Given the description of an element on the screen output the (x, y) to click on. 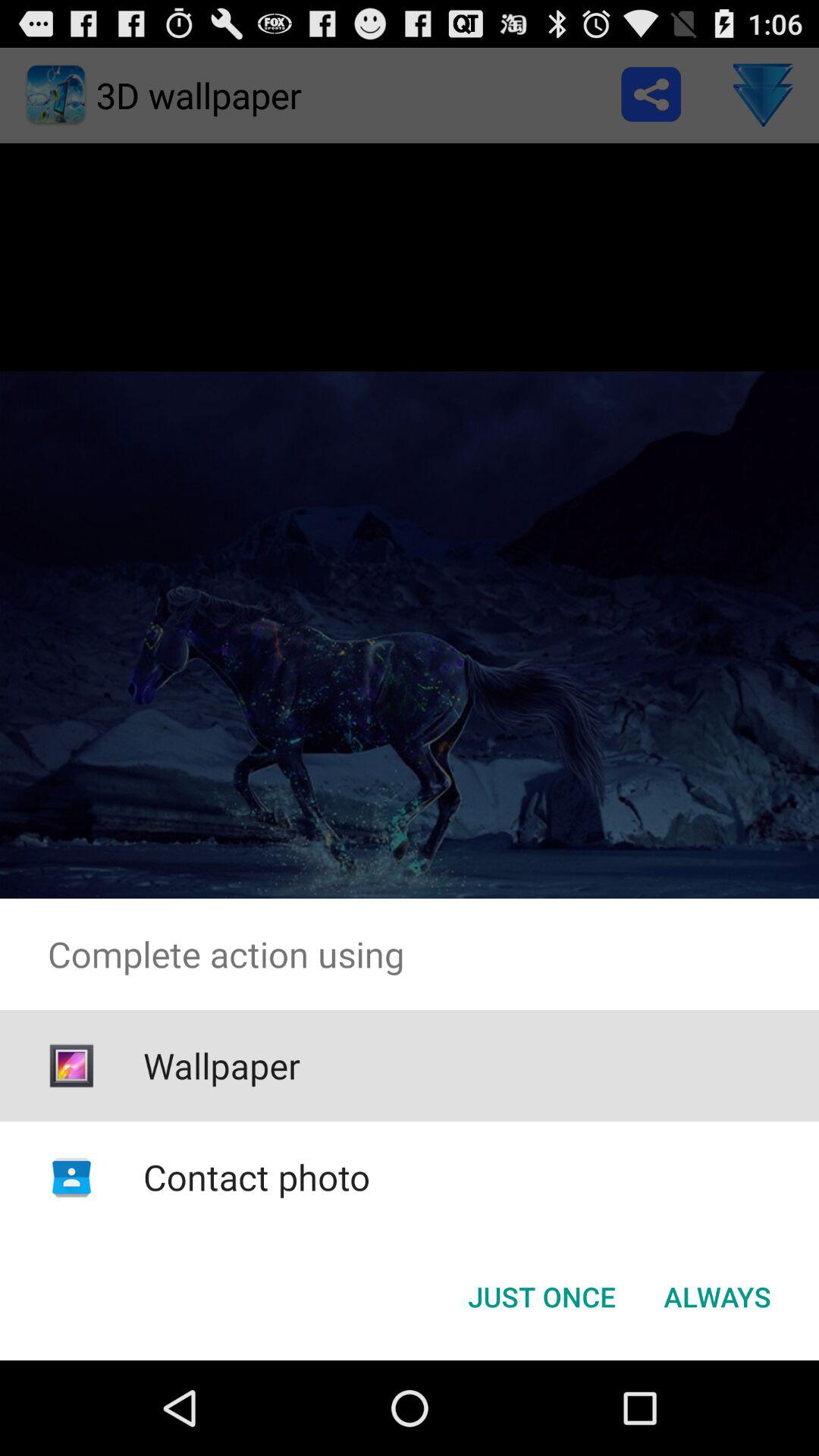
scroll to contact photo icon (256, 1176)
